Given the description of an element on the screen output the (x, y) to click on. 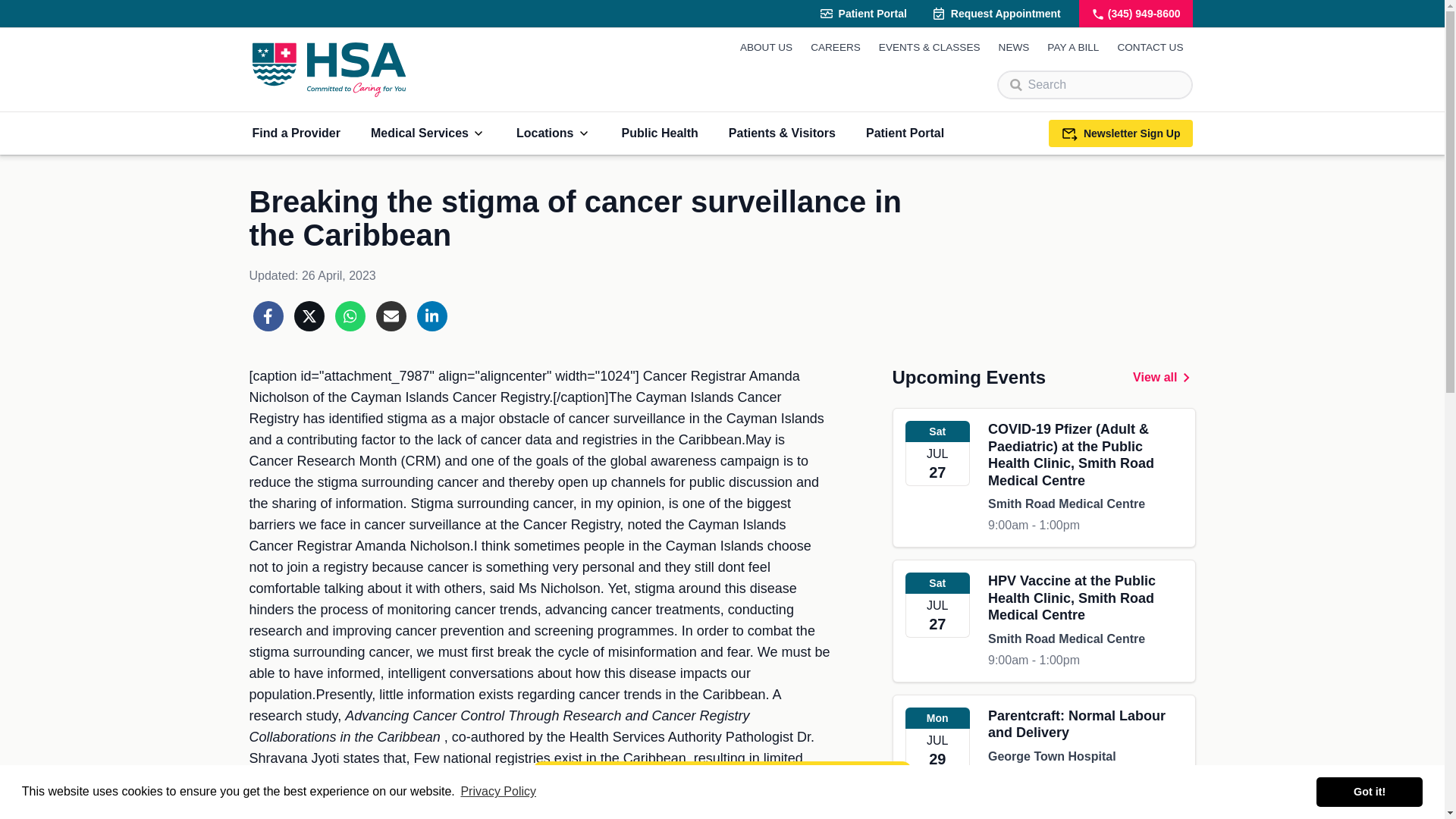
Got it! (1369, 791)
Request Appointment (995, 13)
Privacy Policy (498, 791)
CAREERS (835, 47)
PAY A BILL (1072, 47)
ABOUT US (765, 47)
Patient Portal (862, 13)
NEWS (1013, 47)
Locations (553, 133)
Medical Services (428, 133)
CONTACT US (1149, 47)
Find a Provider (295, 133)
